Given the description of an element on the screen output the (x, y) to click on. 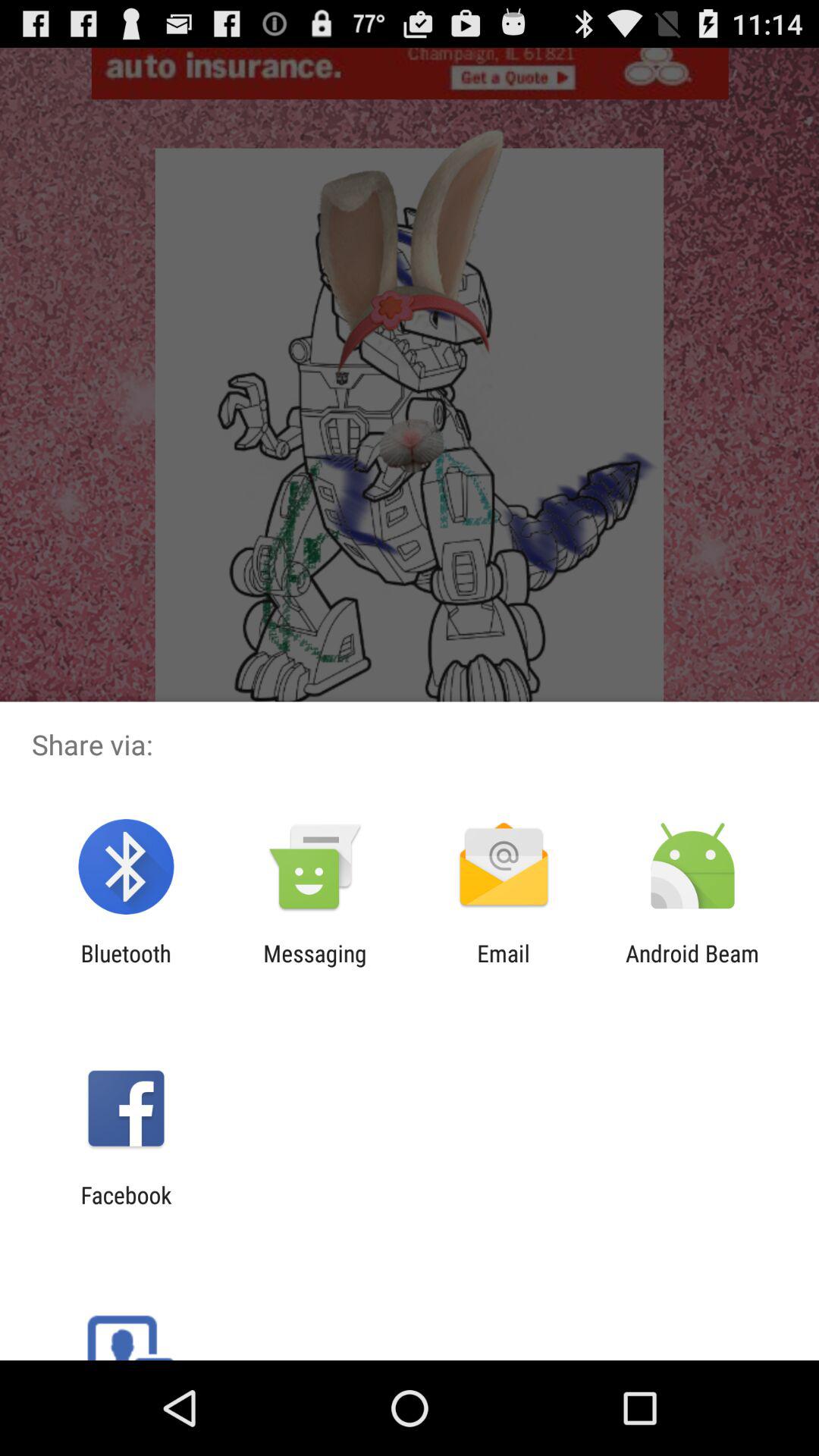
launch bluetooth icon (125, 966)
